Given the description of an element on the screen output the (x, y) to click on. 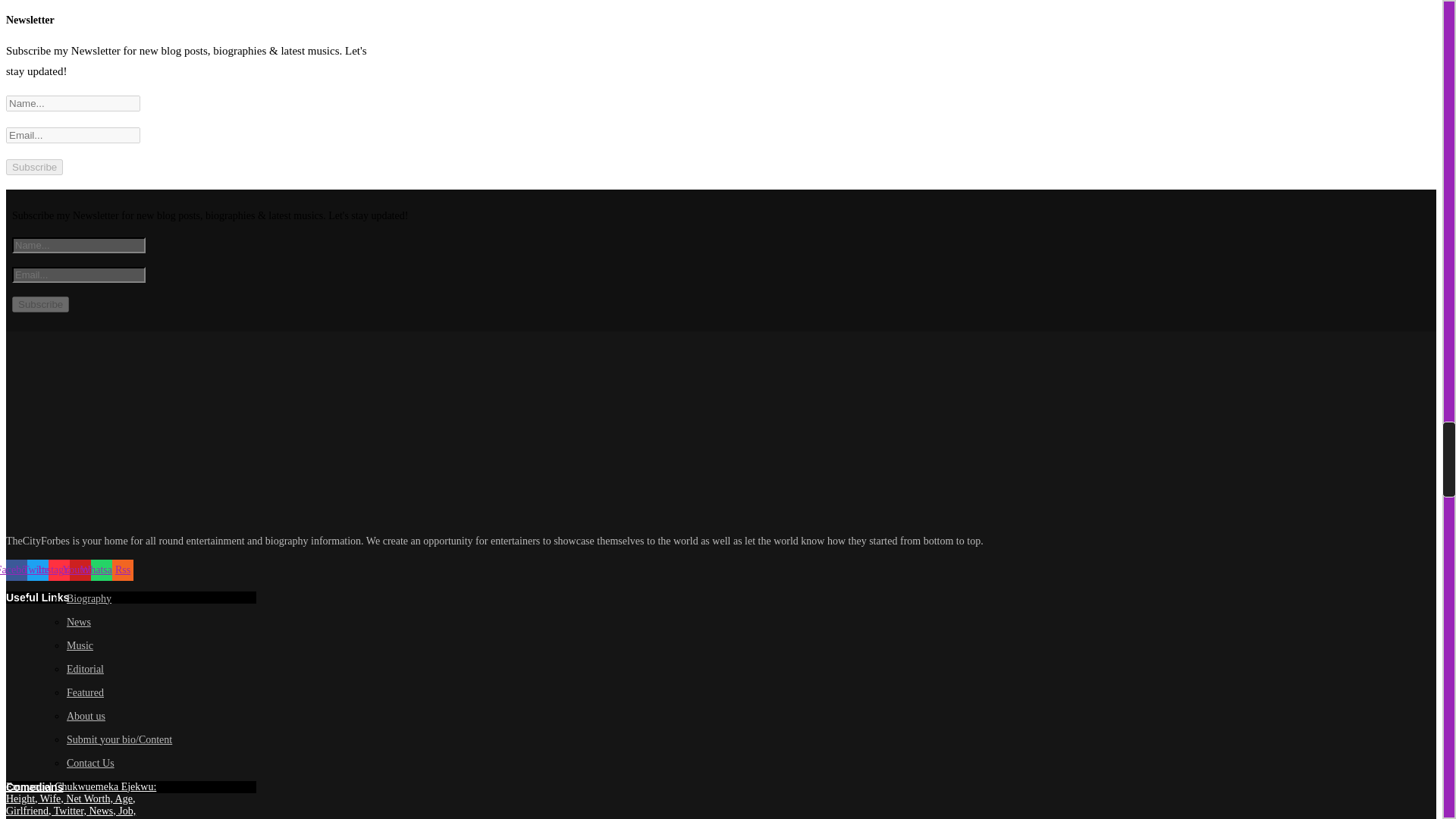
Subscribe (39, 304)
Subscribe (33, 166)
